Given the description of an element on the screen output the (x, y) to click on. 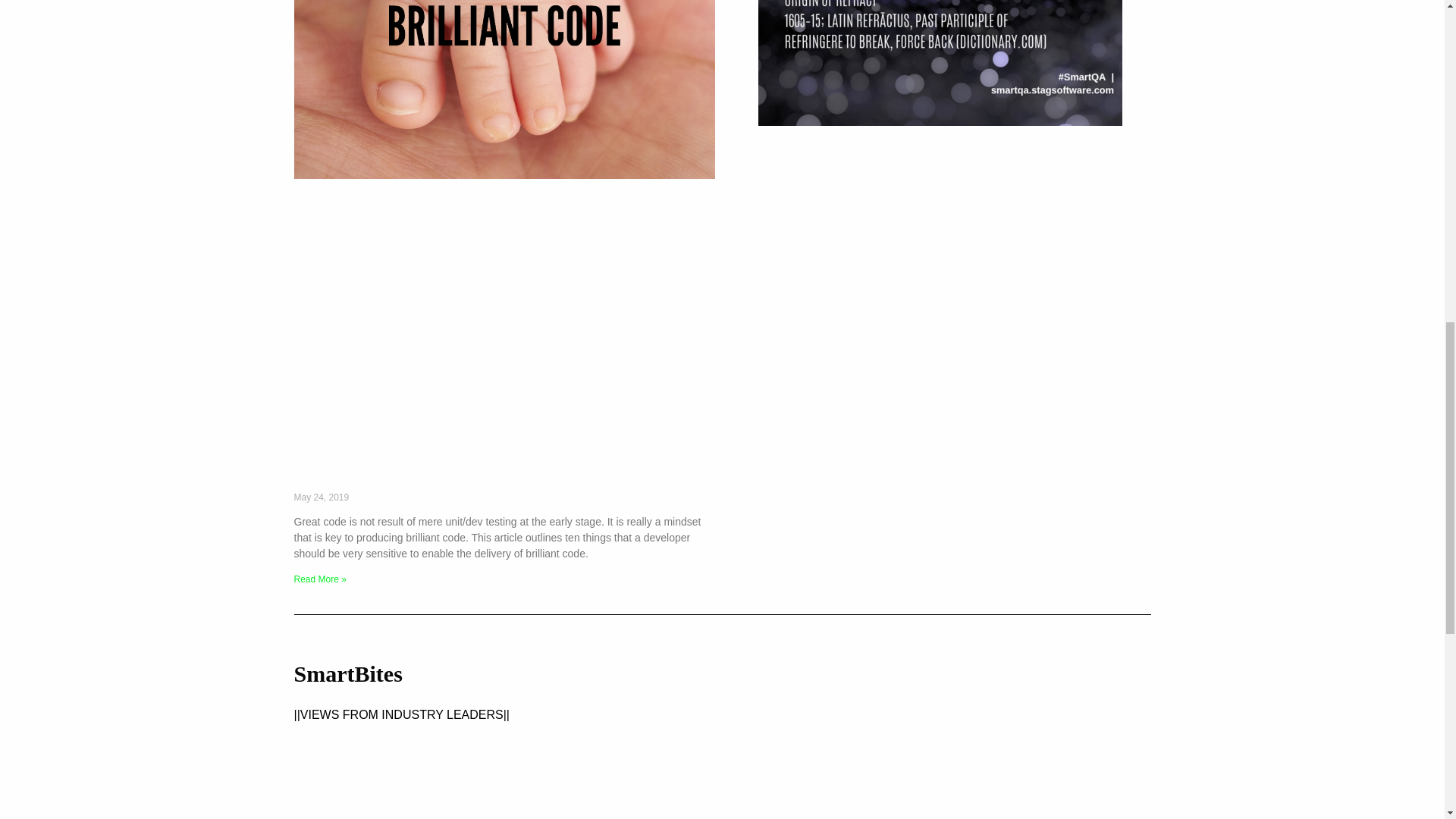
10 things to be sensitive to deliver brilliant code (503, 481)
